Given the description of an element on the screen output the (x, y) to click on. 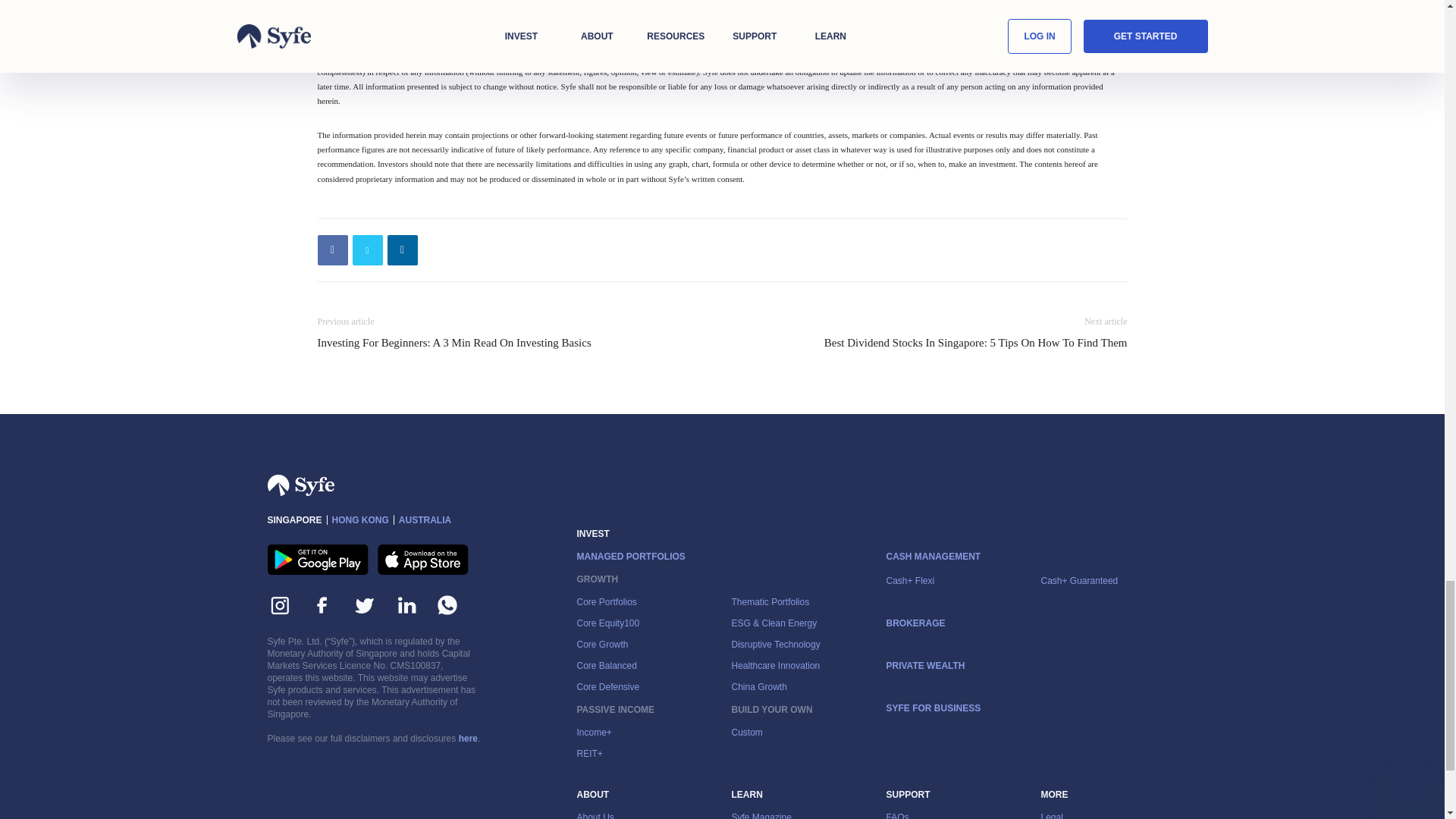
Linkedin (401, 250)
Facebook (332, 250)
Twitter (366, 250)
